Given the description of an element on the screen output the (x, y) to click on. 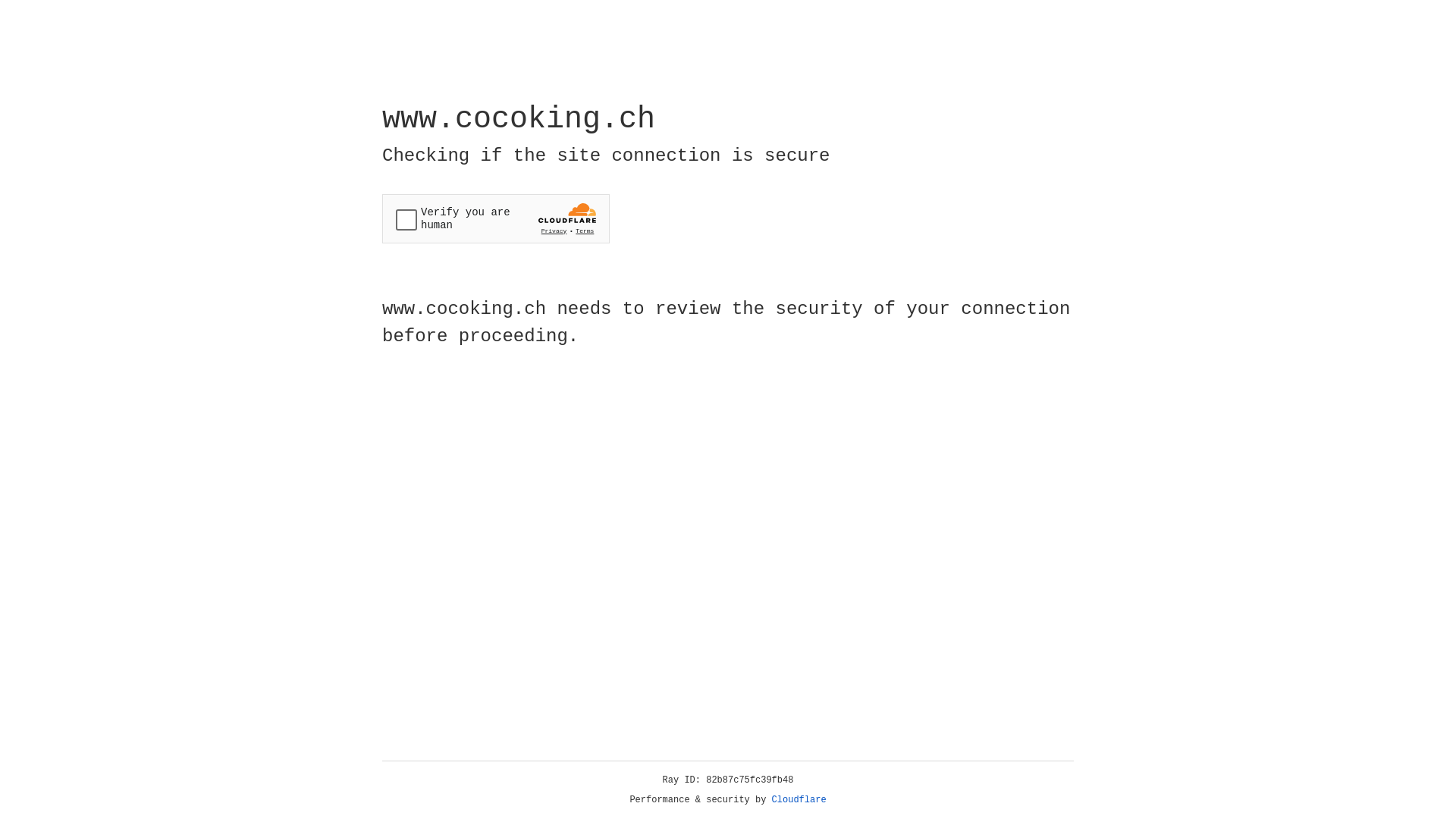
Widget containing a Cloudflare security challenge Element type: hover (495, 218)
Cloudflare Element type: text (798, 799)
